Given the description of an element on the screen output the (x, y) to click on. 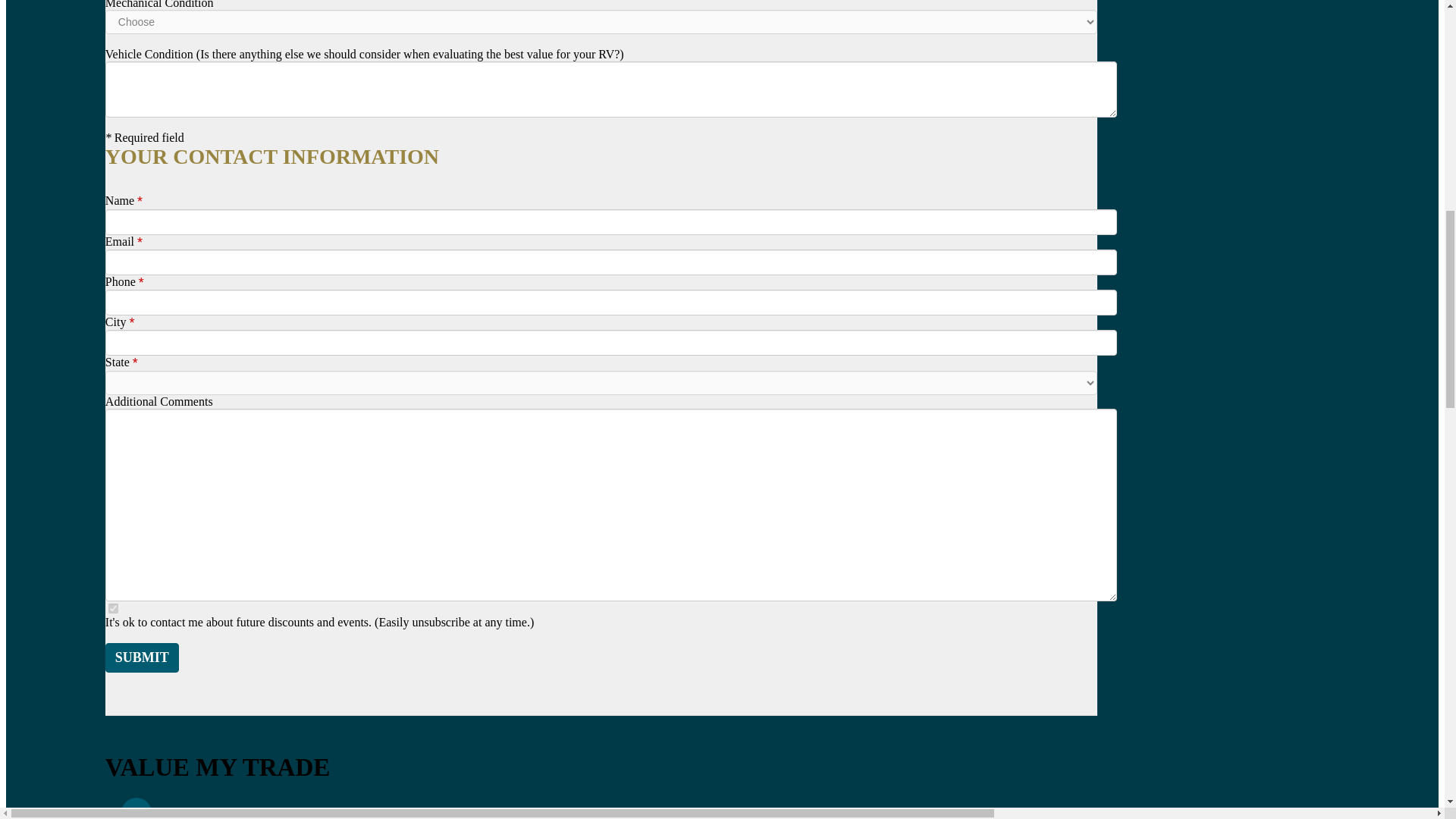
on (112, 608)
Submit (141, 657)
